Given the description of an element on the screen output the (x, y) to click on. 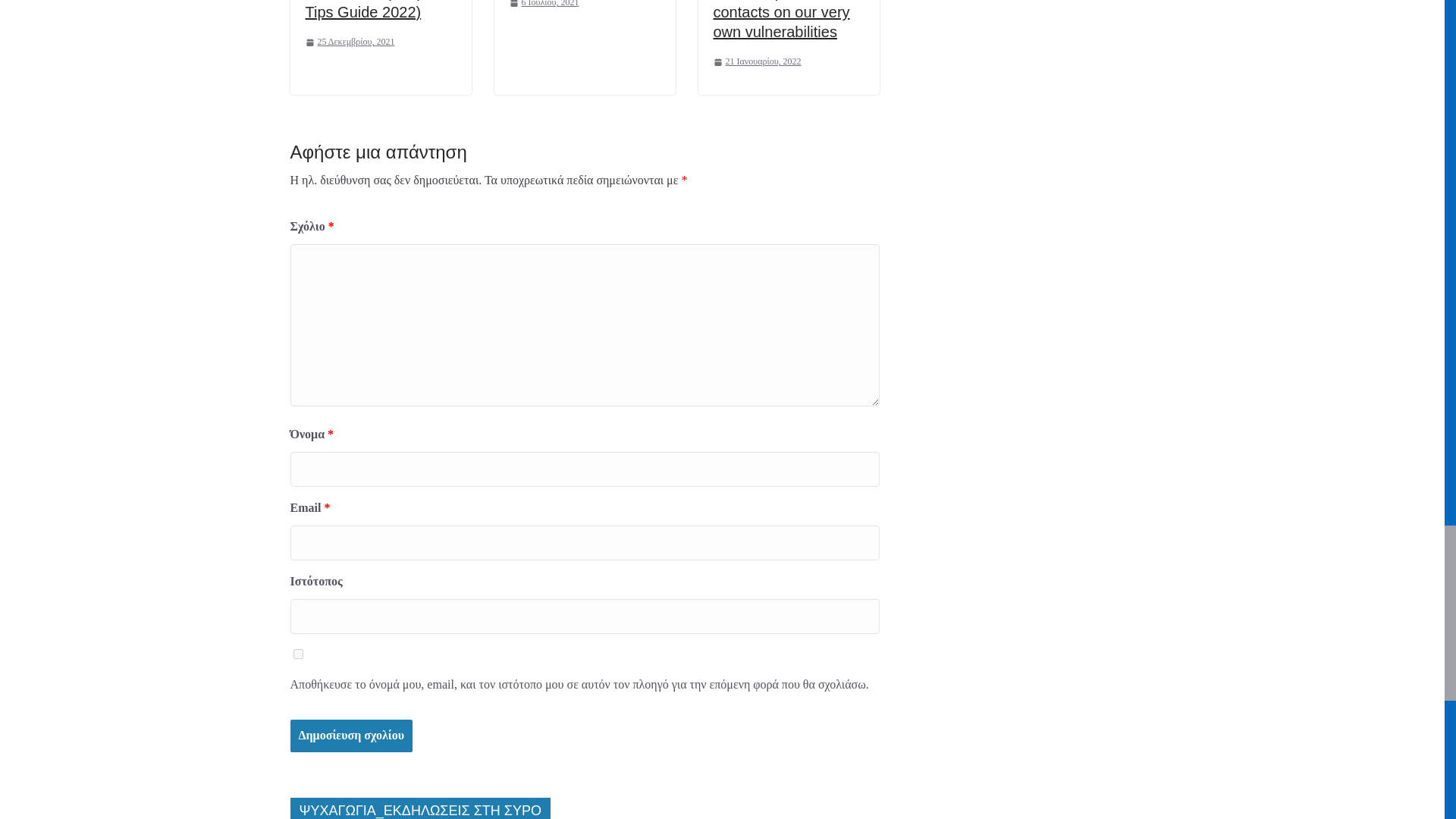
yes (297, 654)
